Given the description of an element on the screen output the (x, y) to click on. 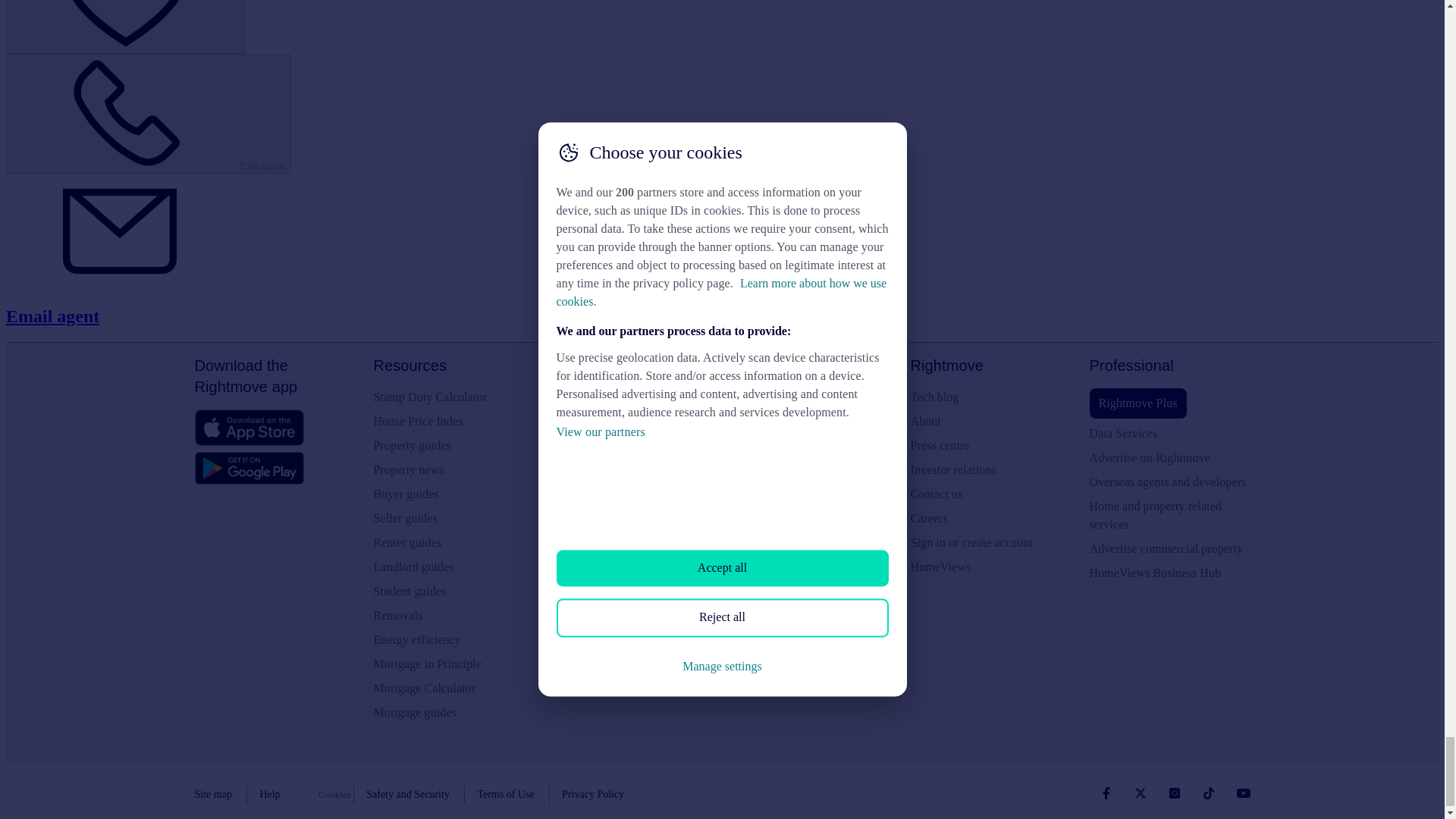
Property news (453, 470)
House price index (453, 421)
Seller guides (453, 518)
Stamp duty calculator (453, 397)
Property guides (453, 445)
Buyer guides (453, 494)
Landlord guides (453, 566)
Renter guides (453, 542)
Save this property (125, 27)
